Given the description of an element on the screen output the (x, y) to click on. 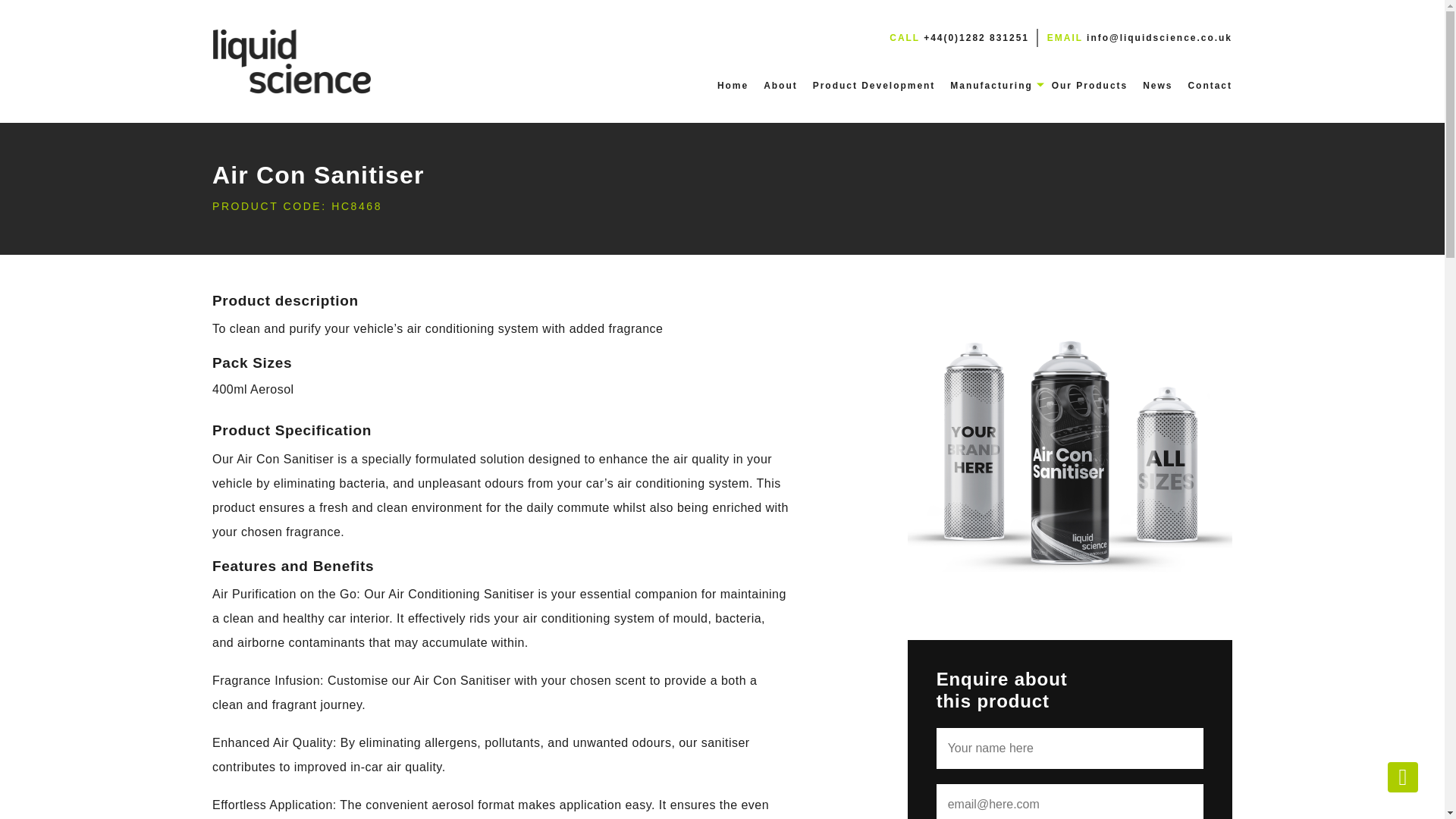
About (779, 85)
Our Products (1088, 85)
Contact (1209, 85)
News (1157, 85)
Product Development (874, 85)
Home (732, 85)
Manufacturing (991, 85)
